Given the description of an element on the screen output the (x, y) to click on. 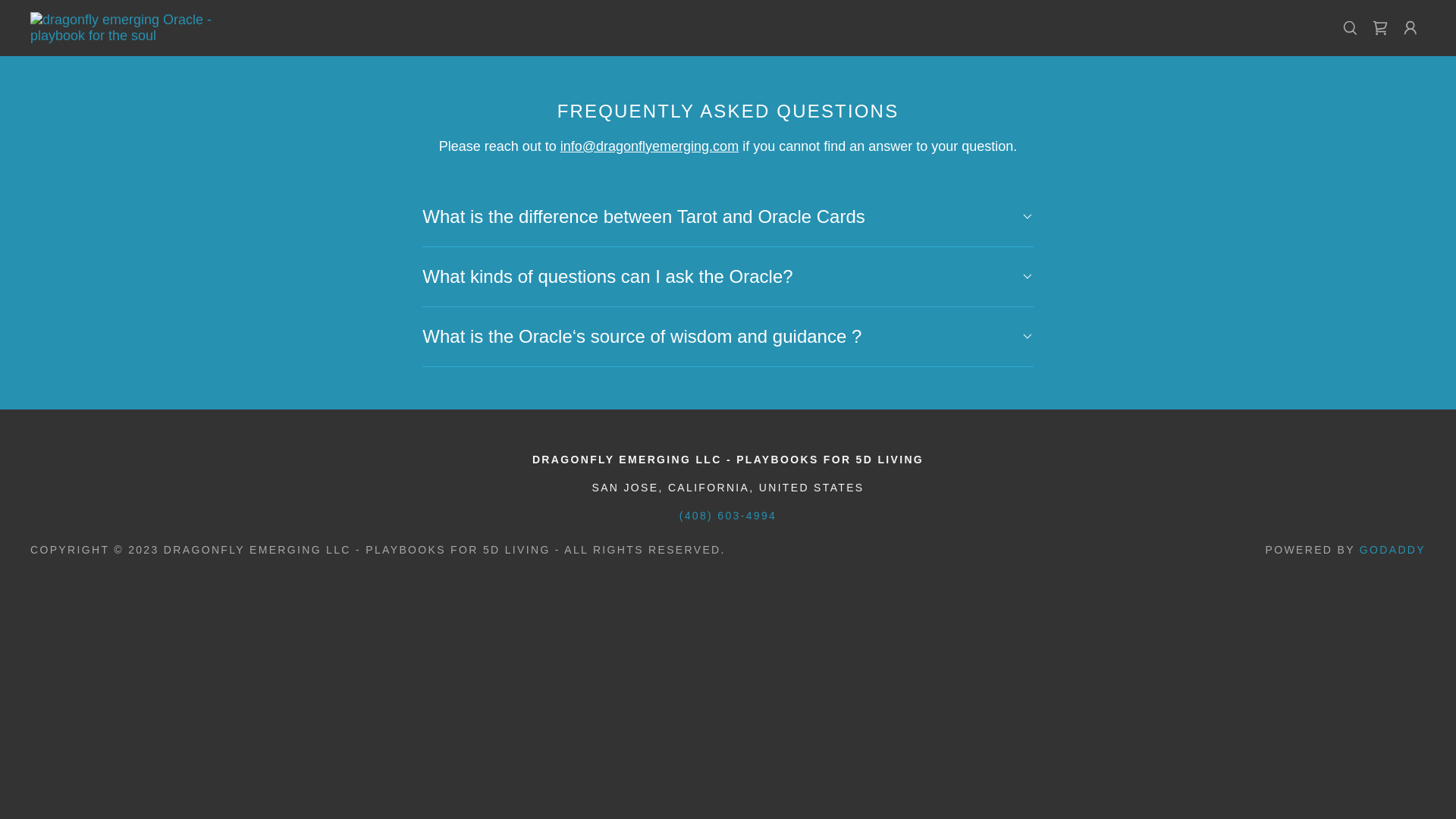
GODADDY (1392, 549)
What is the difference between Tarot and Oracle Cards (727, 216)
What kinds of questions can I ask the Oracle? (727, 276)
dragonfly emerging Oracle - playbook for the soul (131, 27)
